Given the description of an element on the screen output the (x, y) to click on. 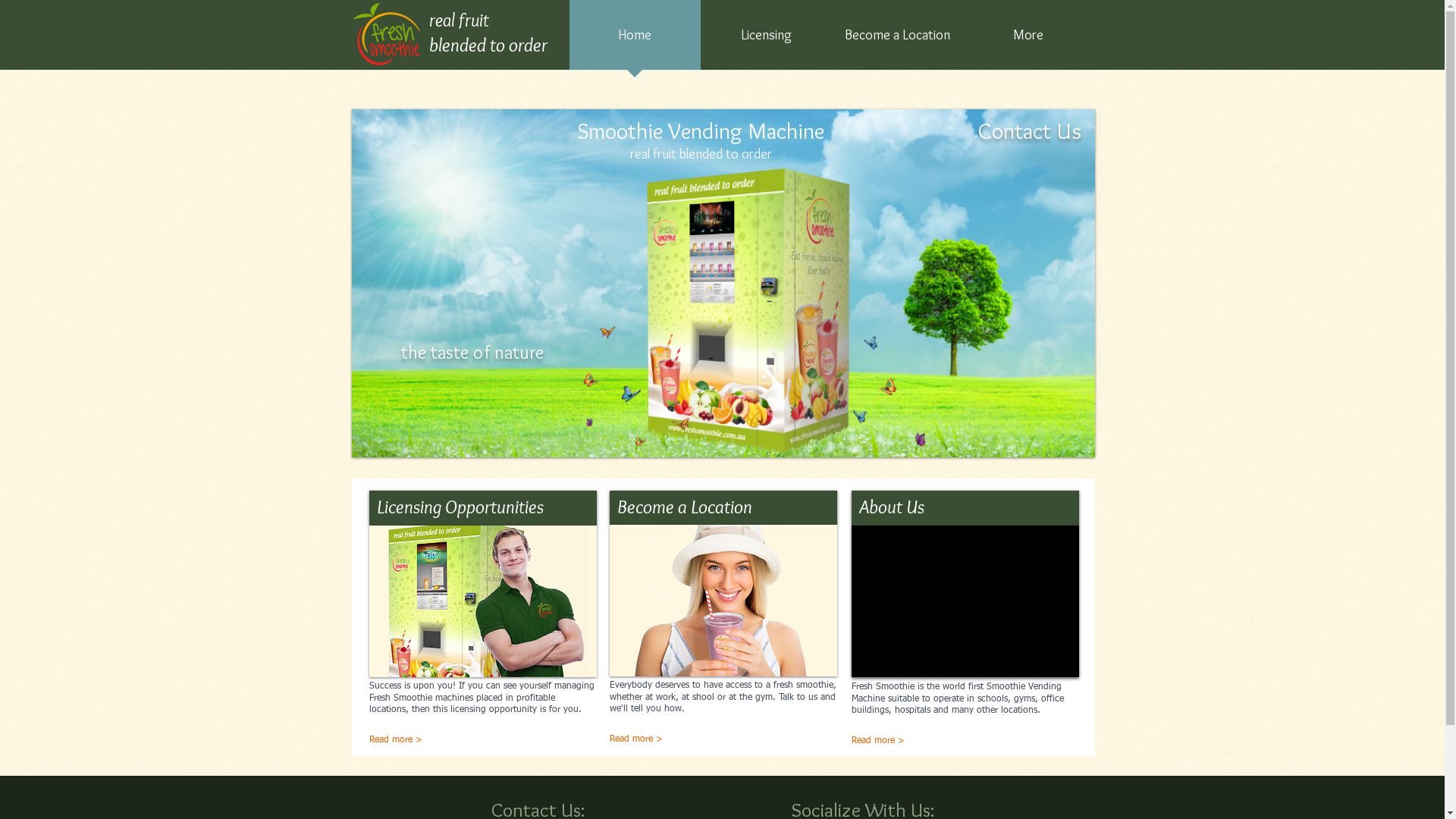
Licensing Opportunities Element type: hover (482, 601)
External YouTube Element type: hover (964, 601)
Contact Us Element type: text (1029, 130)
Home Element type: text (633, 39)
Read more > Element type: text (676, 740)
Read more > Element type: text (917, 741)
Read more > Element type: text (395, 741)
Become a Location Element type: hover (723, 600)
Licensing Element type: text (765, 39)
Become a Location Element type: text (896, 39)
a-banner.png Element type: hover (723, 283)
